Given the description of an element on the screen output the (x, y) to click on. 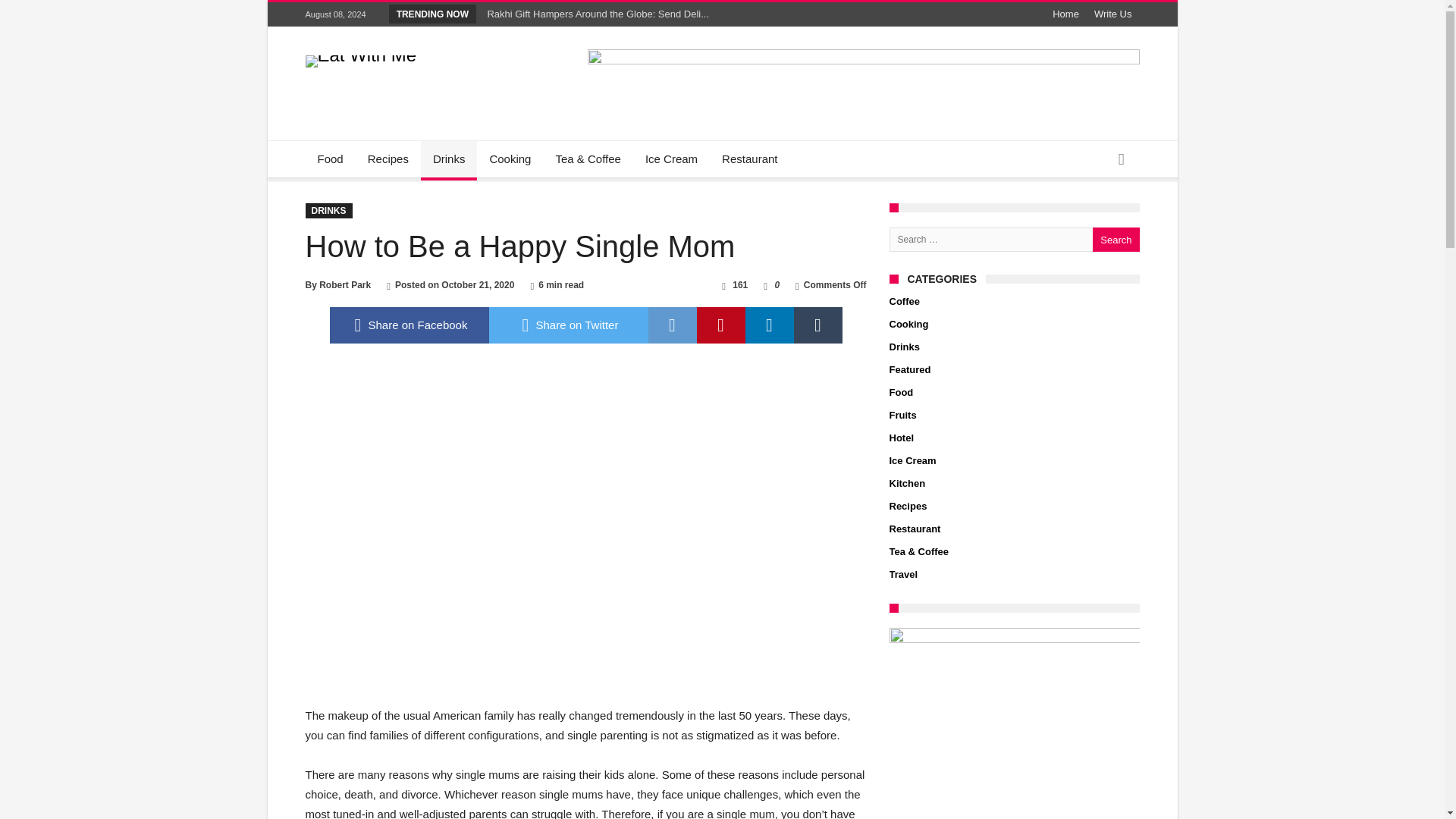
Restaurant (749, 158)
pinterest (719, 325)
I like this article (764, 285)
facebook (408, 325)
Recipes (387, 158)
Share on Pinterest (719, 325)
Share on Linkedin (768, 325)
Share on Twitter (567, 325)
Search (1115, 239)
twitter (567, 325)
